Given the description of an element on the screen output the (x, y) to click on. 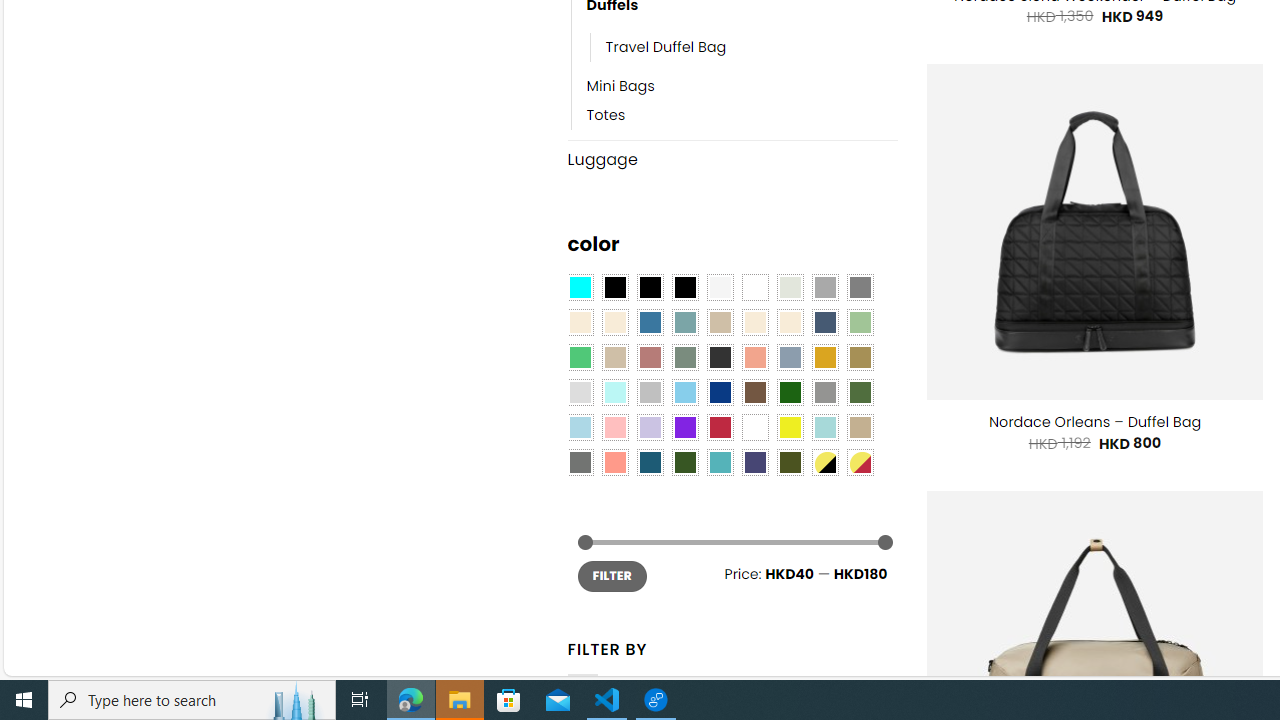
Green (859, 393)
Ash Gray (789, 287)
Light Purple (650, 427)
Charcoal (719, 357)
Sky Blue (684, 393)
Rose (650, 357)
All Gray (859, 287)
Totes (742, 115)
Brownie (719, 323)
Forest (684, 462)
Gold (824, 357)
Kelp (859, 357)
Gray (824, 393)
